Given the description of an element on the screen output the (x, y) to click on. 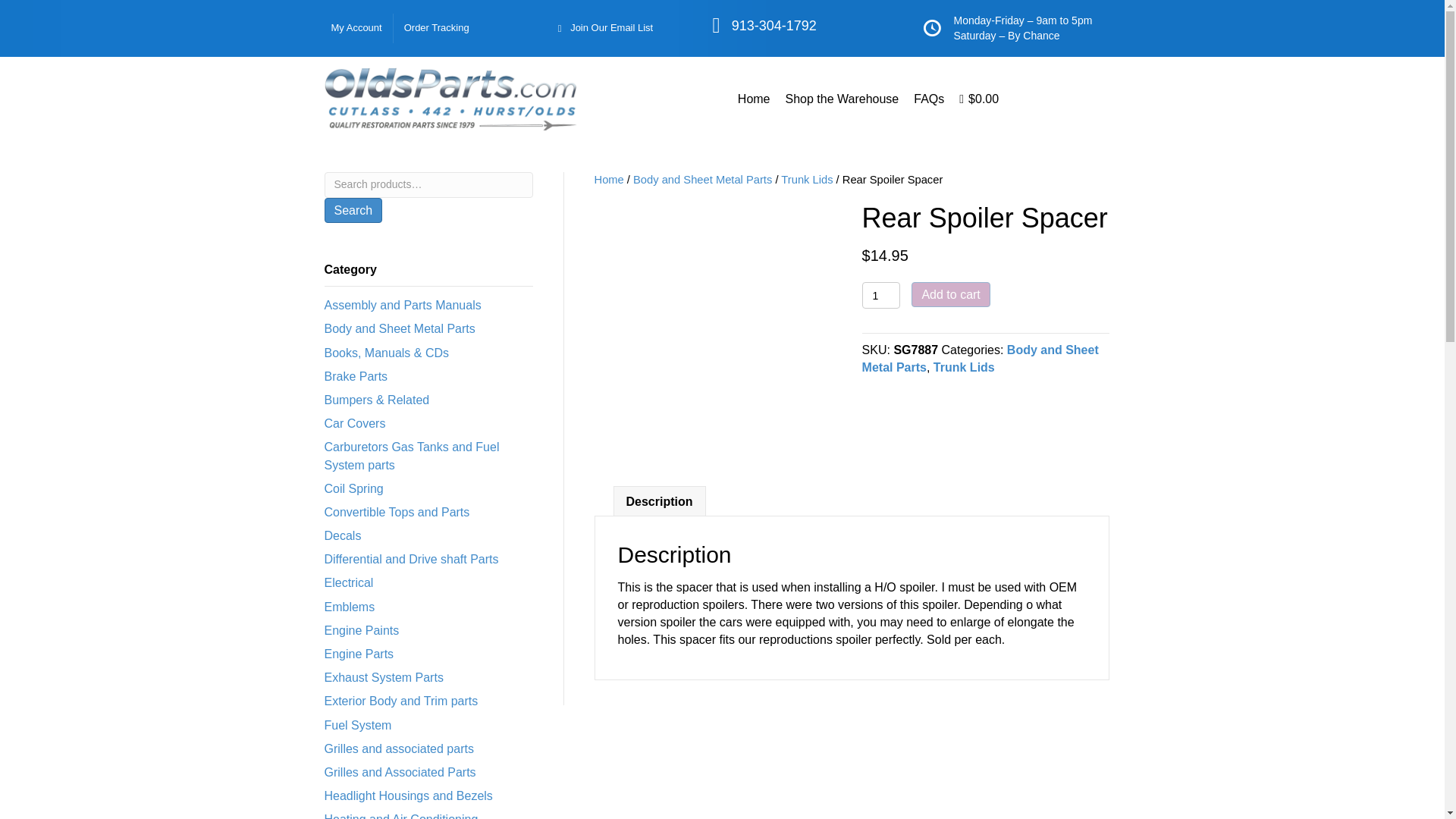
Home (753, 99)
Qty (881, 294)
1 (881, 294)
Add to cart (950, 294)
FAQs (928, 99)
Body and Sheet Metal Parts (702, 179)
Description (659, 501)
Join Our Email List (604, 28)
Shop the Warehouse (842, 99)
Body and Sheet Metal Parts (980, 358)
